Given the description of an element on the screen output the (x, y) to click on. 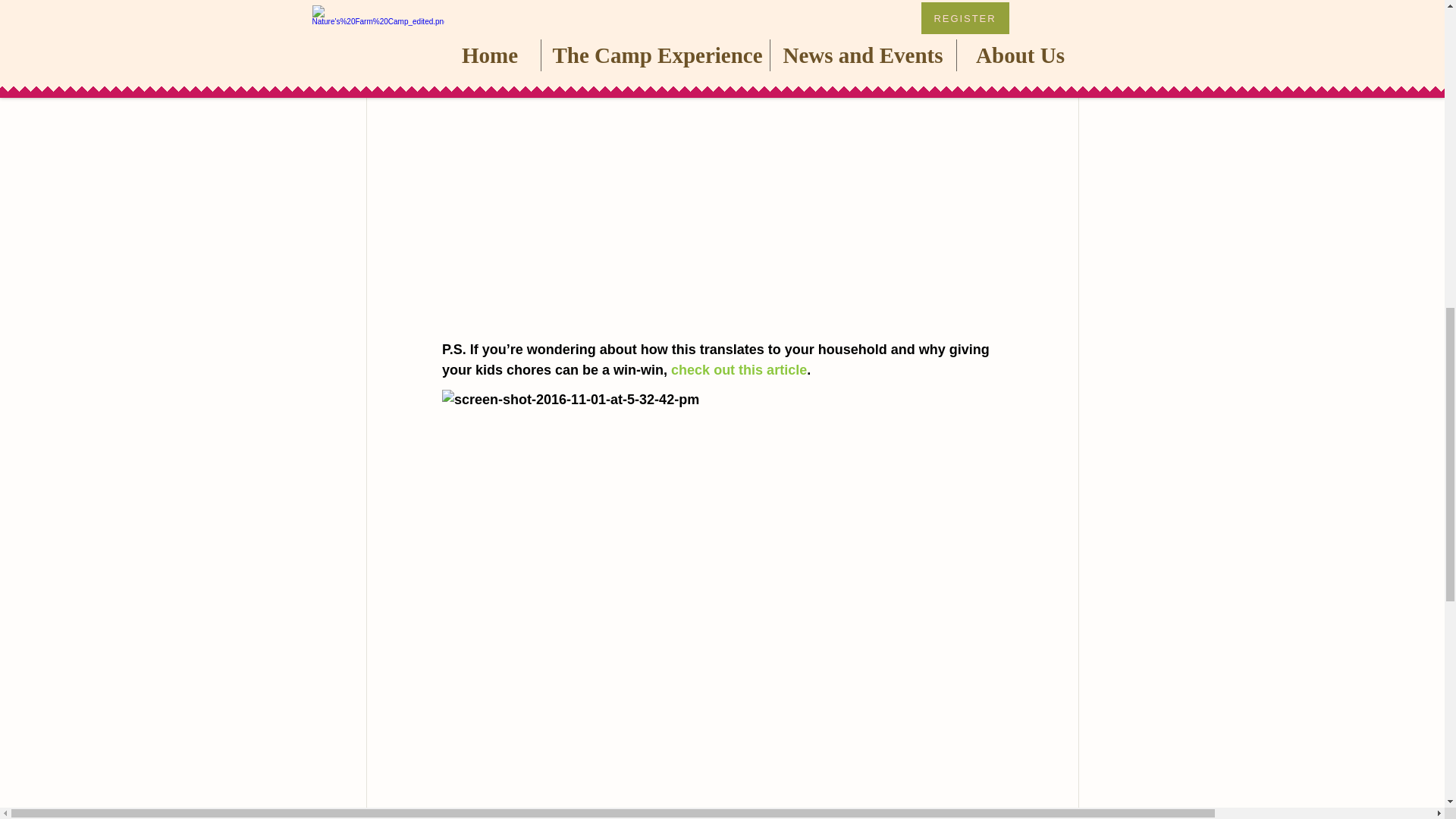
check out this article (738, 369)
